Given the description of an element on the screen output the (x, y) to click on. 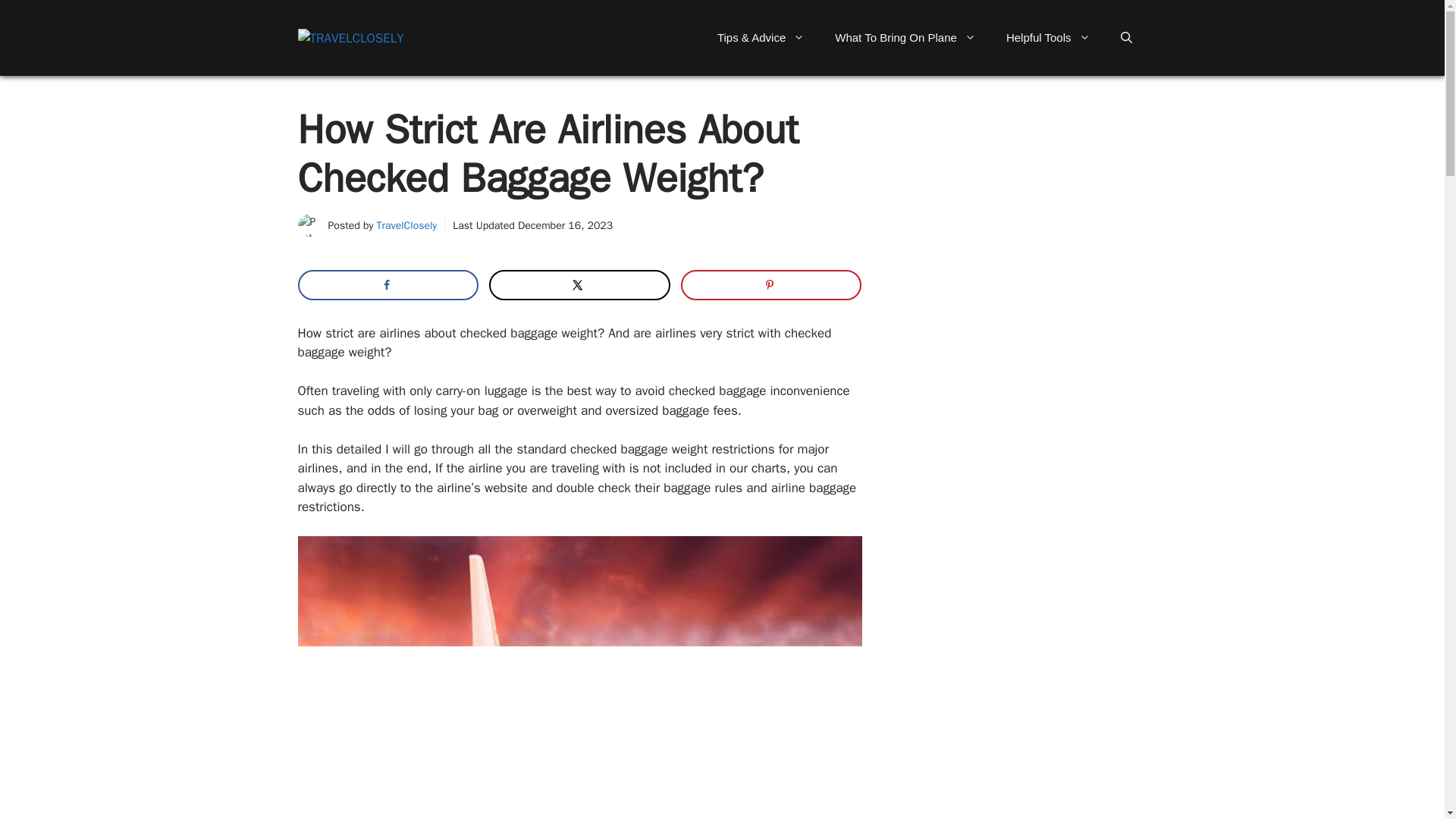
Share on X (579, 285)
Save to Pinterest (771, 285)
Helpful Tools (1048, 37)
TravelClosely (407, 225)
What To Bring On Plane (905, 37)
Share on Facebook (387, 285)
